Given the description of an element on the screen output the (x, y) to click on. 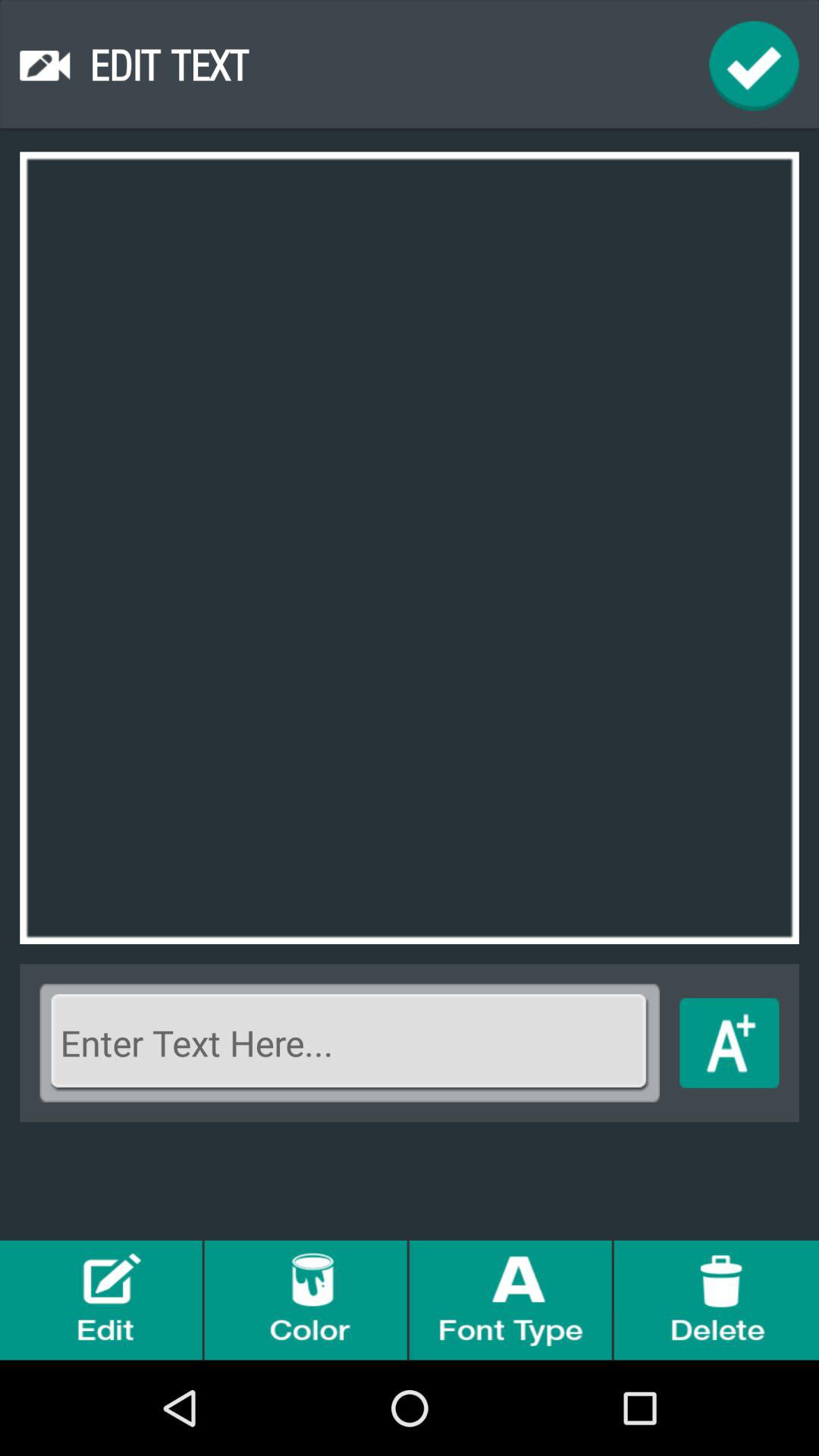
edit (102, 1299)
